Given the description of an element on the screen output the (x, y) to click on. 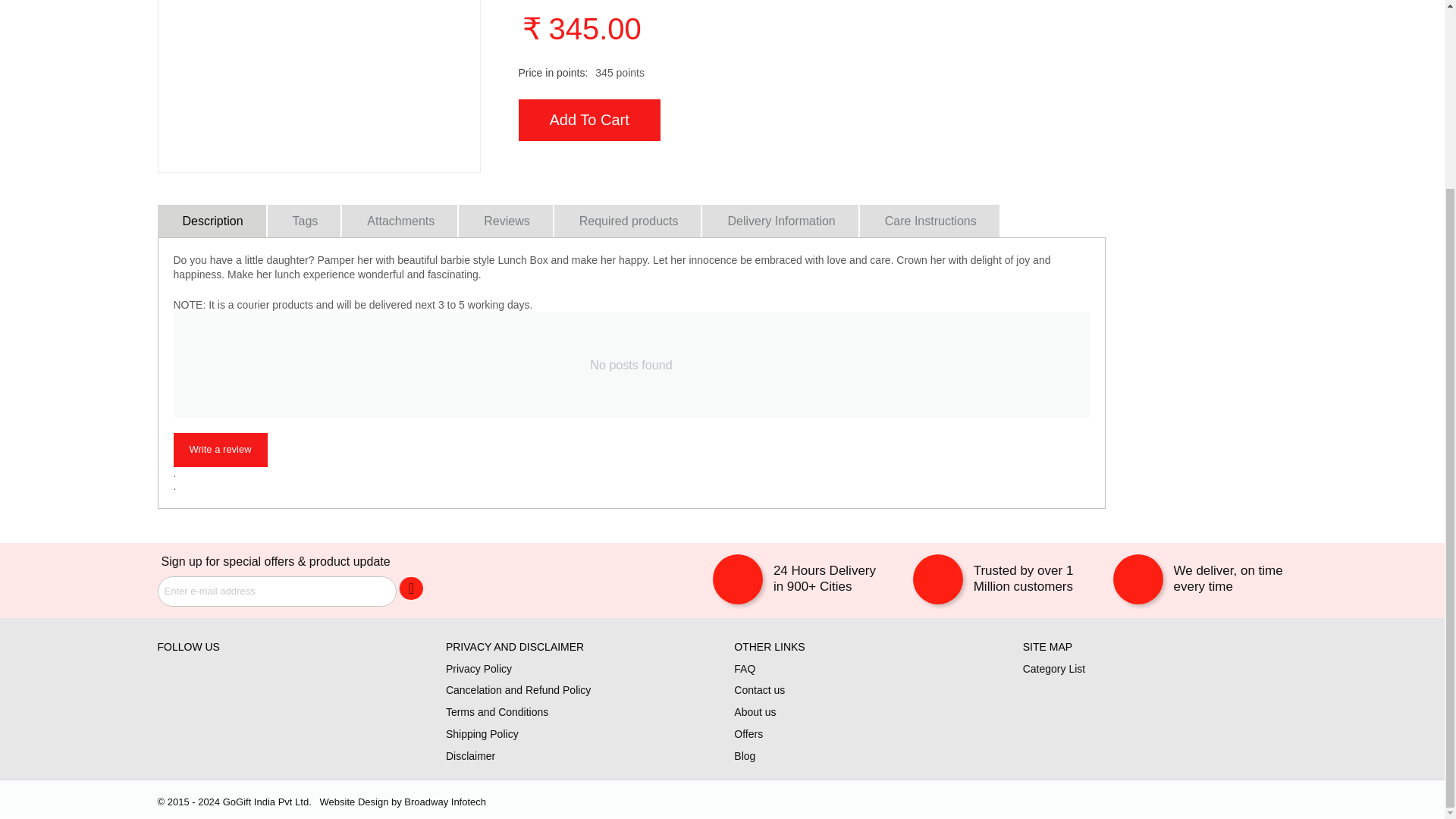
Enter e-mail address (276, 591)
Barbie School Lunchbox Pink And Purple (318, 85)
Go (410, 588)
Write a review (219, 449)
